Given the description of an element on the screen output the (x, y) to click on. 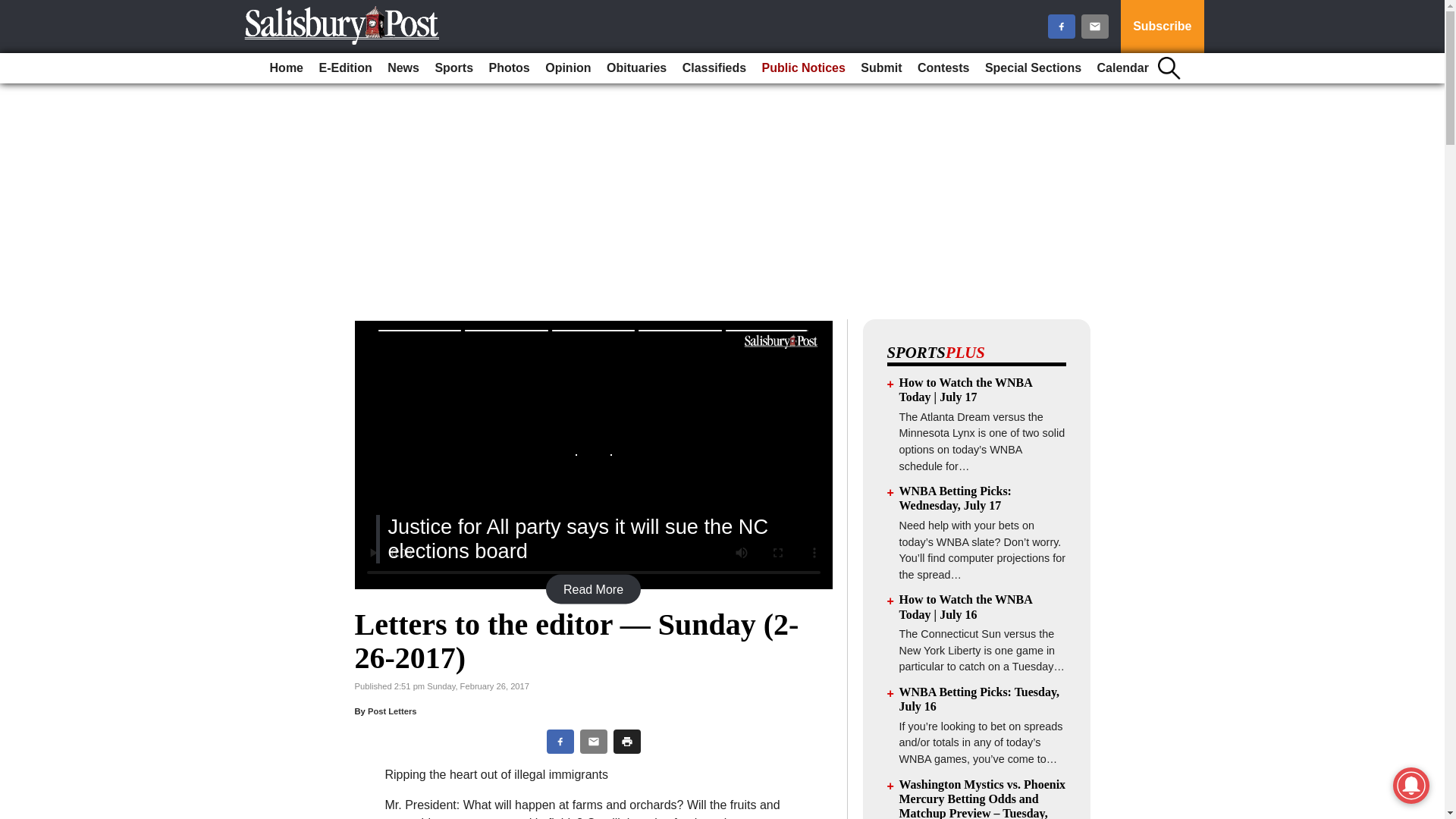
Home (285, 68)
Contests (943, 68)
Obituaries (635, 68)
Public Notices (803, 68)
Submit (880, 68)
Subscribe (1162, 26)
Classifieds (714, 68)
Special Sections (1032, 68)
Sports (453, 68)
3rd party ad content (721, 212)
Opinion (567, 68)
News (403, 68)
E-Edition (345, 68)
